Given the description of an element on the screen output the (x, y) to click on. 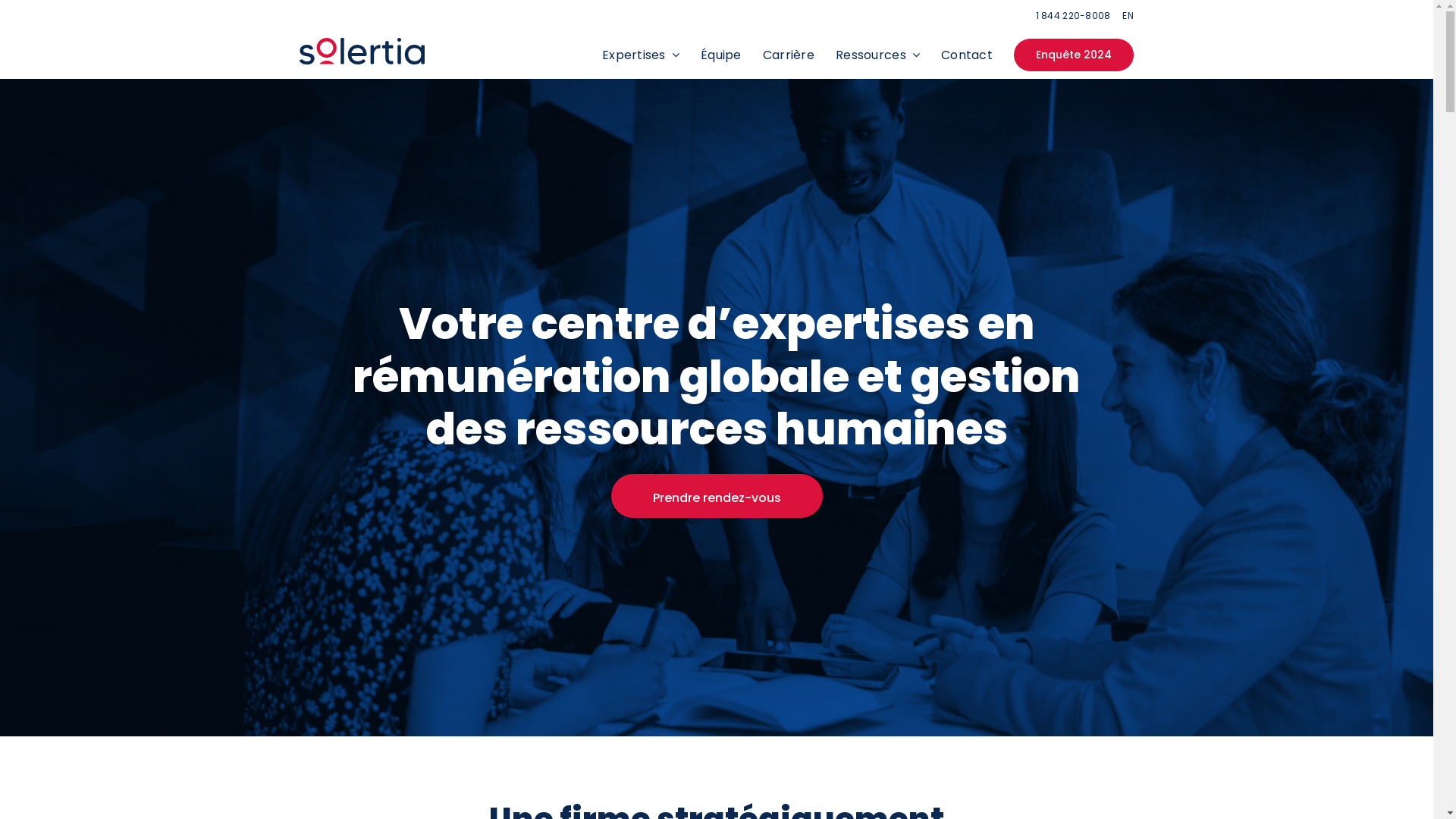
1 844 220-8008 Element type: text (1072, 15)
Expertises Element type: text (640, 54)
Contact Element type: text (966, 54)
EN Element type: text (1127, 15)
Ressources Element type: text (877, 54)
Prendre rendez-vous Element type: text (716, 495)
